Given the description of an element on the screen output the (x, y) to click on. 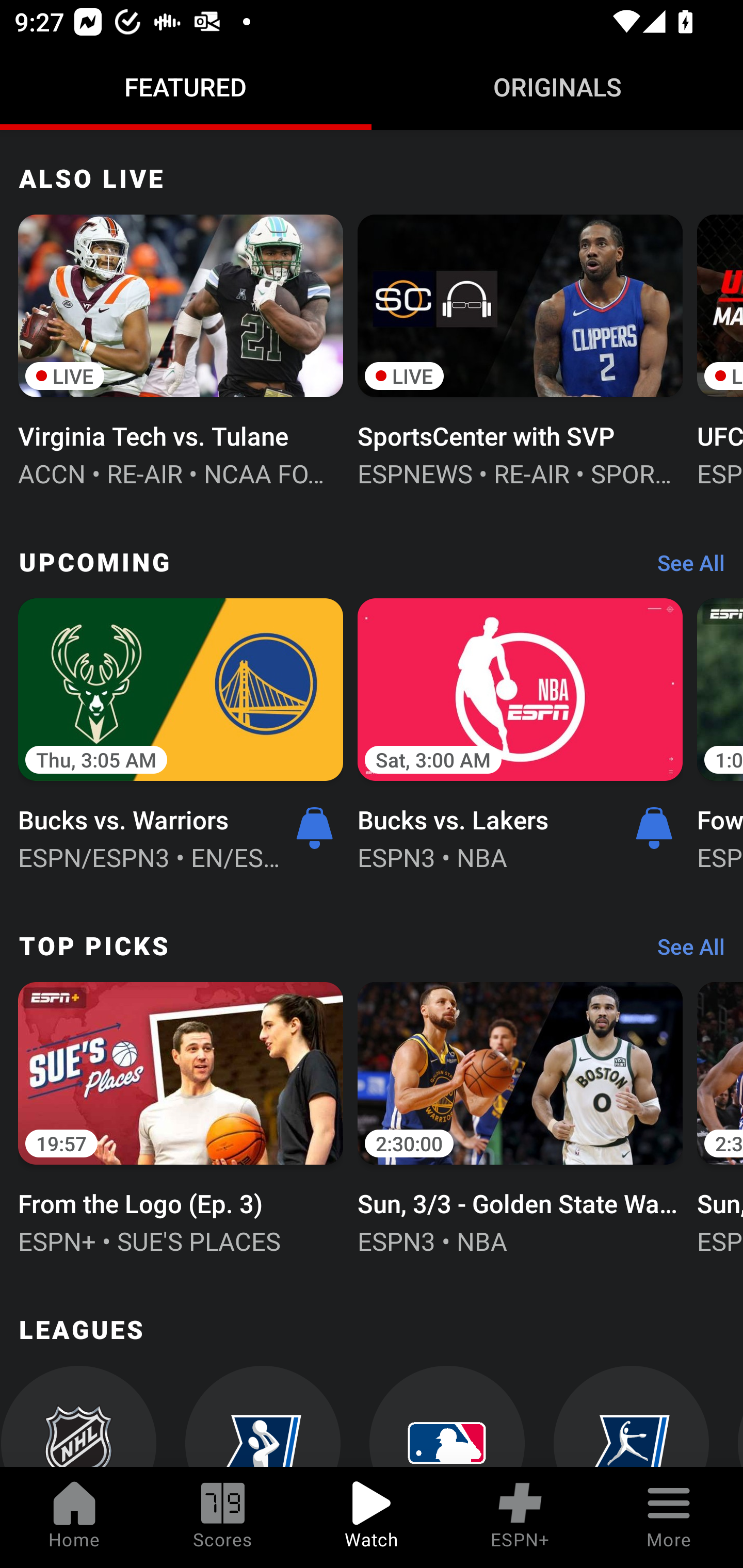
Originals ORIGINALS (557, 86)
See All (683, 567)
See All (683, 951)
19:57 From the Logo (Ep. 3) ESPN+ • SUE'S PLACES (180, 1116)
Home (74, 1517)
Scores (222, 1517)
ESPN+ (519, 1517)
More (668, 1517)
